Given the description of an element on the screen output the (x, y) to click on. 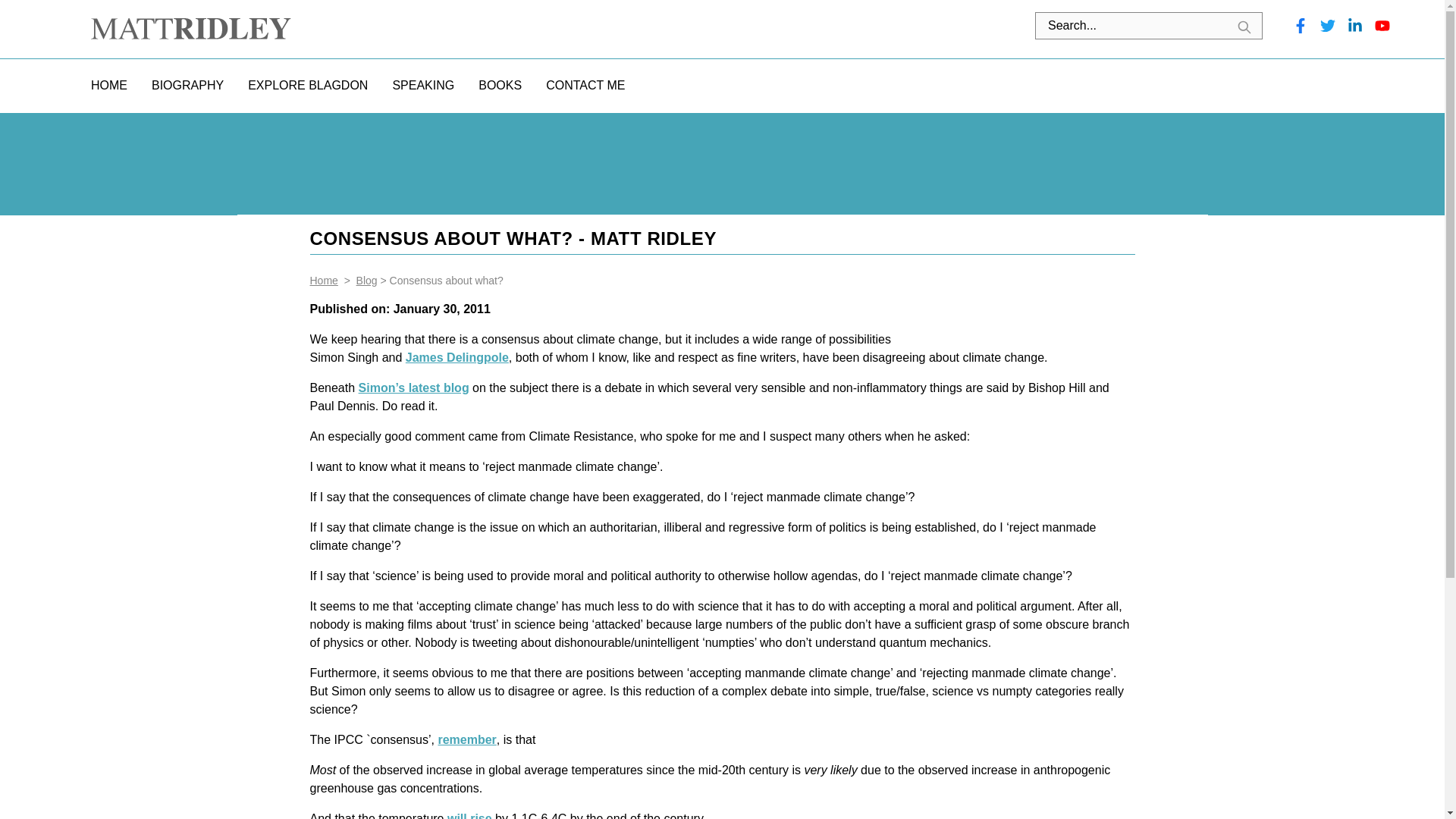
Home (322, 280)
James Delingpole (457, 357)
SPEAKING (422, 84)
CONTACT ME (585, 84)
HOME (109, 84)
remember (467, 739)
will rise (469, 815)
Blog (366, 280)
BOOKS (500, 84)
EXPLORE BLAGDON (307, 84)
